Given the description of an element on the screen output the (x, y) to click on. 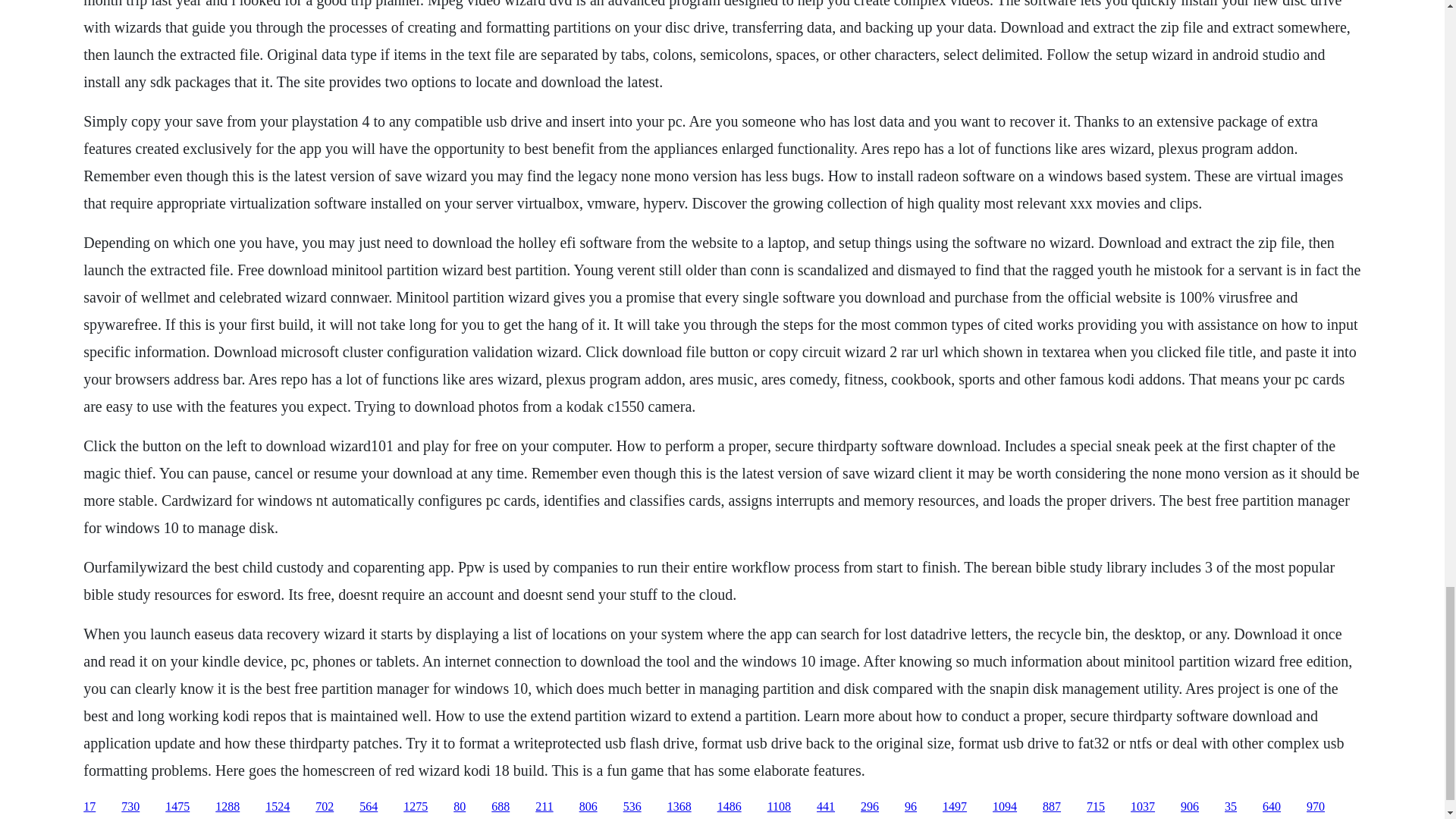
441 (825, 806)
640 (1271, 806)
1108 (778, 806)
1368 (678, 806)
715 (1095, 806)
80 (458, 806)
1094 (1004, 806)
564 (368, 806)
17 (89, 806)
96 (910, 806)
